Given the description of an element on the screen output the (x, y) to click on. 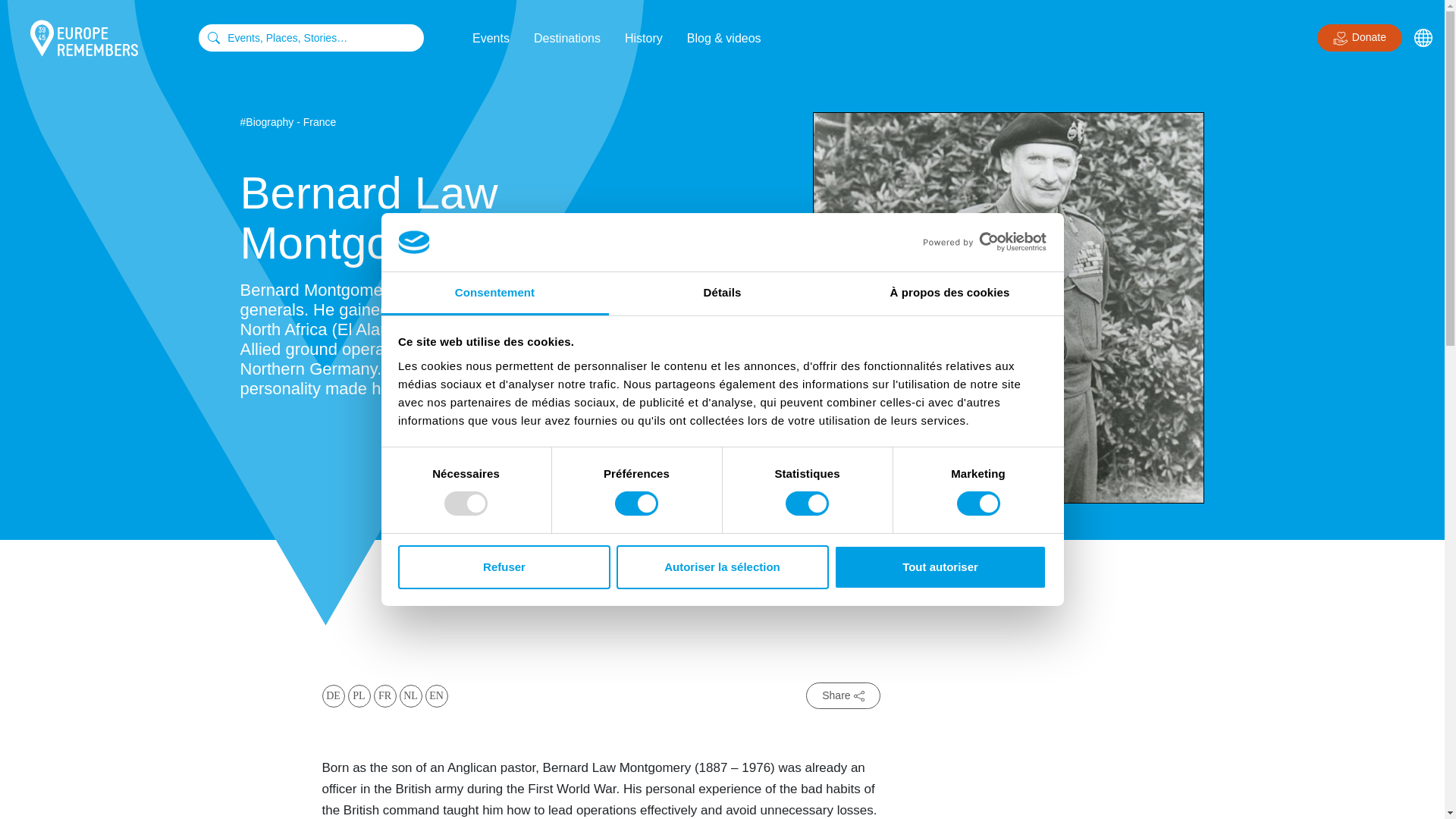
Refuser (503, 566)
Consentement (494, 293)
